Given the description of an element on the screen output the (x, y) to click on. 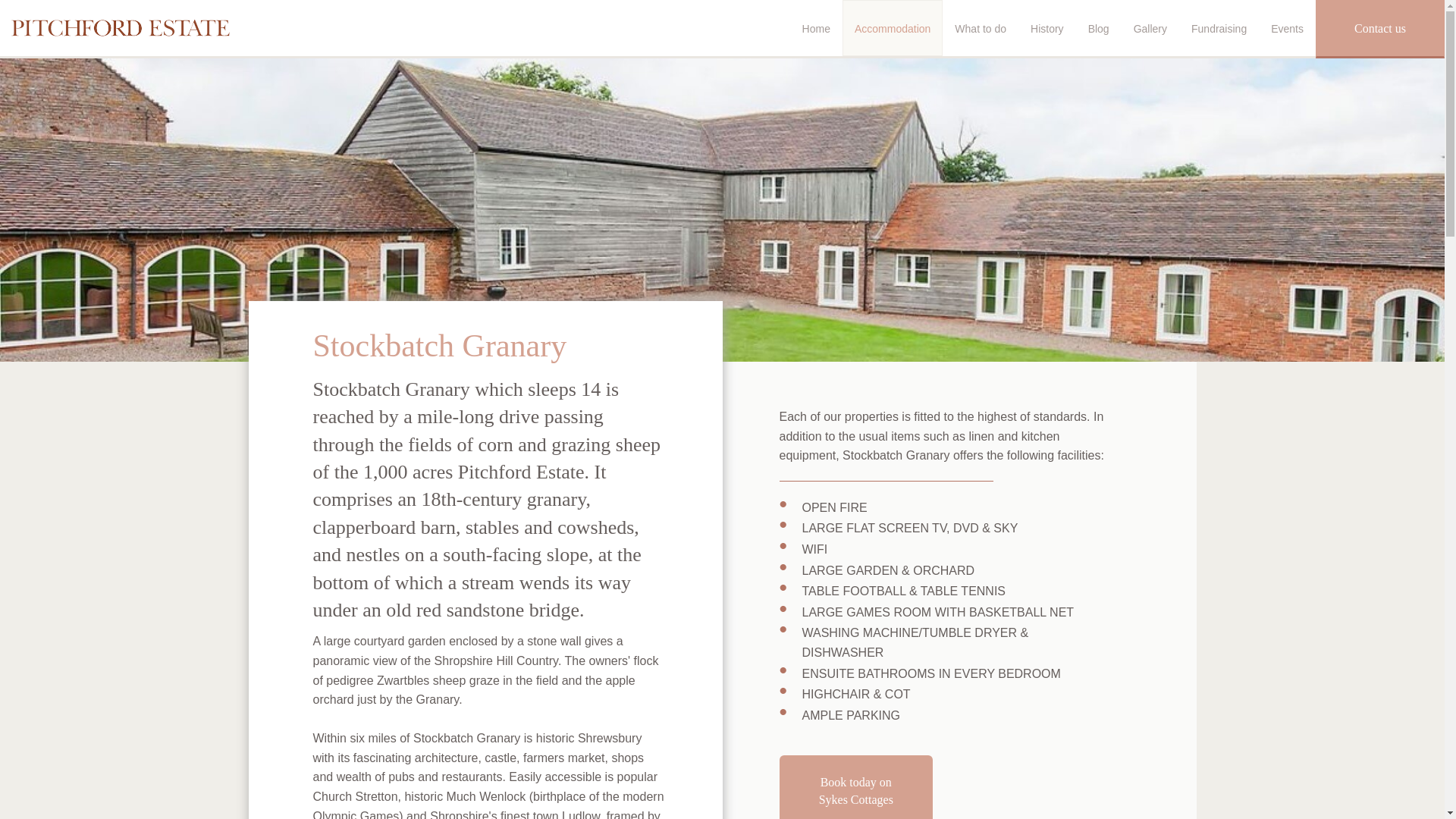
Events (1287, 28)
Accommodation (892, 28)
What to do (979, 28)
Fundraising (1219, 28)
Book today on Sykes Cottages (855, 787)
Gallery (1150, 28)
History (1046, 28)
Home (816, 28)
